Given the description of an element on the screen output the (x, y) to click on. 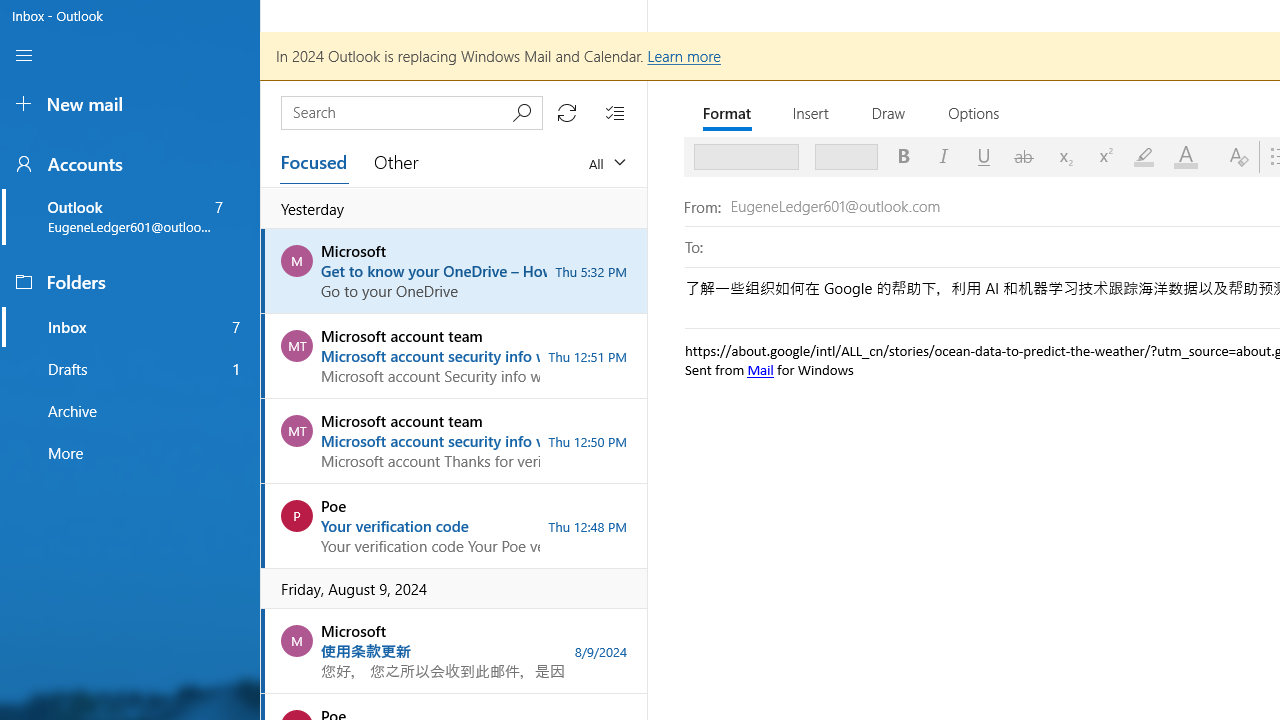
Draw (890, 112)
Subscript (1064, 156)
Inbox folder, 7 unread, favorite (129, 326)
Options (974, 112)
Bold (904, 156)
Font Size (839, 156)
Archive folder, favorite (129, 411)
Mail (760, 369)
Outlook, EugeneLedger601@outlook.com, 7 unread (129, 216)
Folders (129, 281)
Superscript (1103, 156)
Submit search (521, 112)
Font Color (1190, 156)
